Given the description of an element on the screen output the (x, y) to click on. 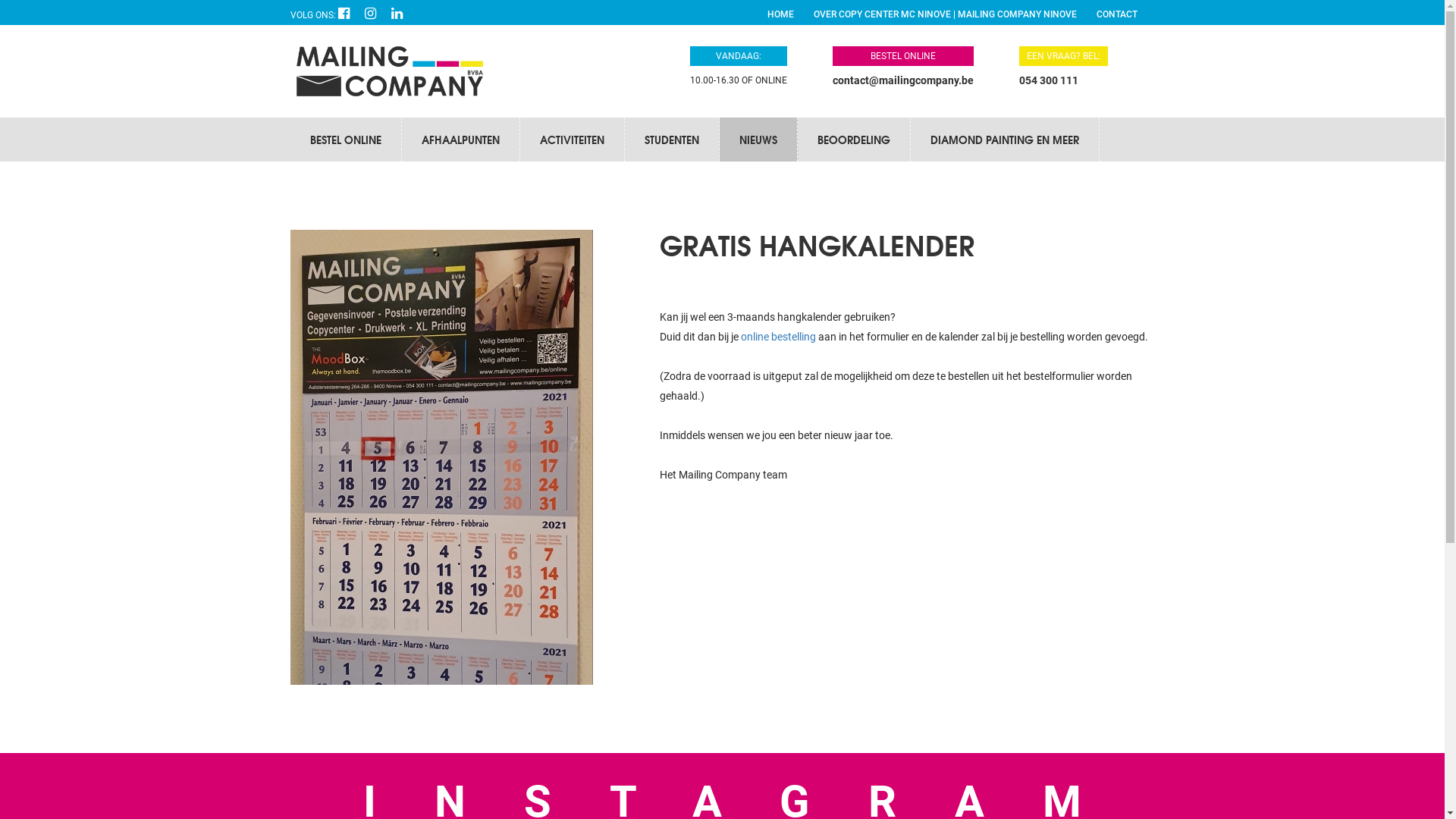
STUDENTEN Element type: text (671, 139)
BESTEL ONLINE Element type: text (344, 139)
AFHAALPUNTEN Element type: text (460, 139)
BESTEL ONLINE Element type: text (902, 66)
contact@mailingcompany.be Element type: text (902, 80)
BEOORDELING Element type: text (853, 139)
DIAMOND PAINTING EN MEER Element type: text (1004, 139)
CONTACT Element type: text (1116, 14)
OVER COPY CENTER MC NINOVE | MAILING COMPANY NINOVE Element type: text (944, 14)
054 300 111 Element type: text (1048, 80)
NIEUWS Element type: text (757, 139)
ACTIVITEITEN Element type: text (572, 139)
online bestelling Element type: text (777, 336)
HOME Element type: text (780, 14)
